Given the description of an element on the screen output the (x, y) to click on. 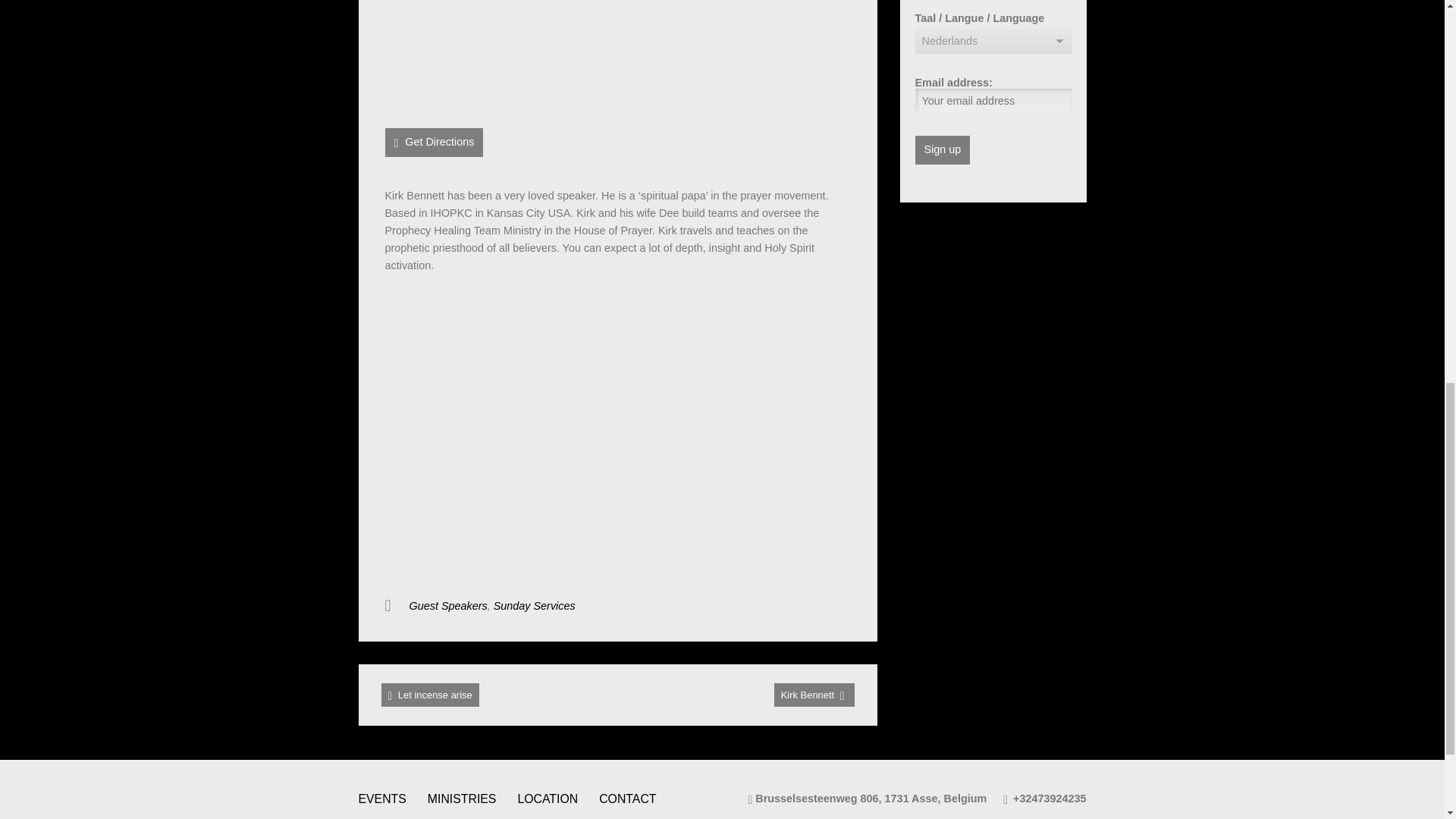
Guest Speakers (448, 605)
Get Directions (434, 142)
Kirk Bennett (814, 694)
Sign up (941, 149)
Sign up (941, 149)
Sunday Services (534, 605)
Biblical Meditation with Kirk Bennett: Introduction (617, 427)
EVENTS (382, 798)
Let incense arise (429, 694)
